Given the description of an element on the screen output the (x, y) to click on. 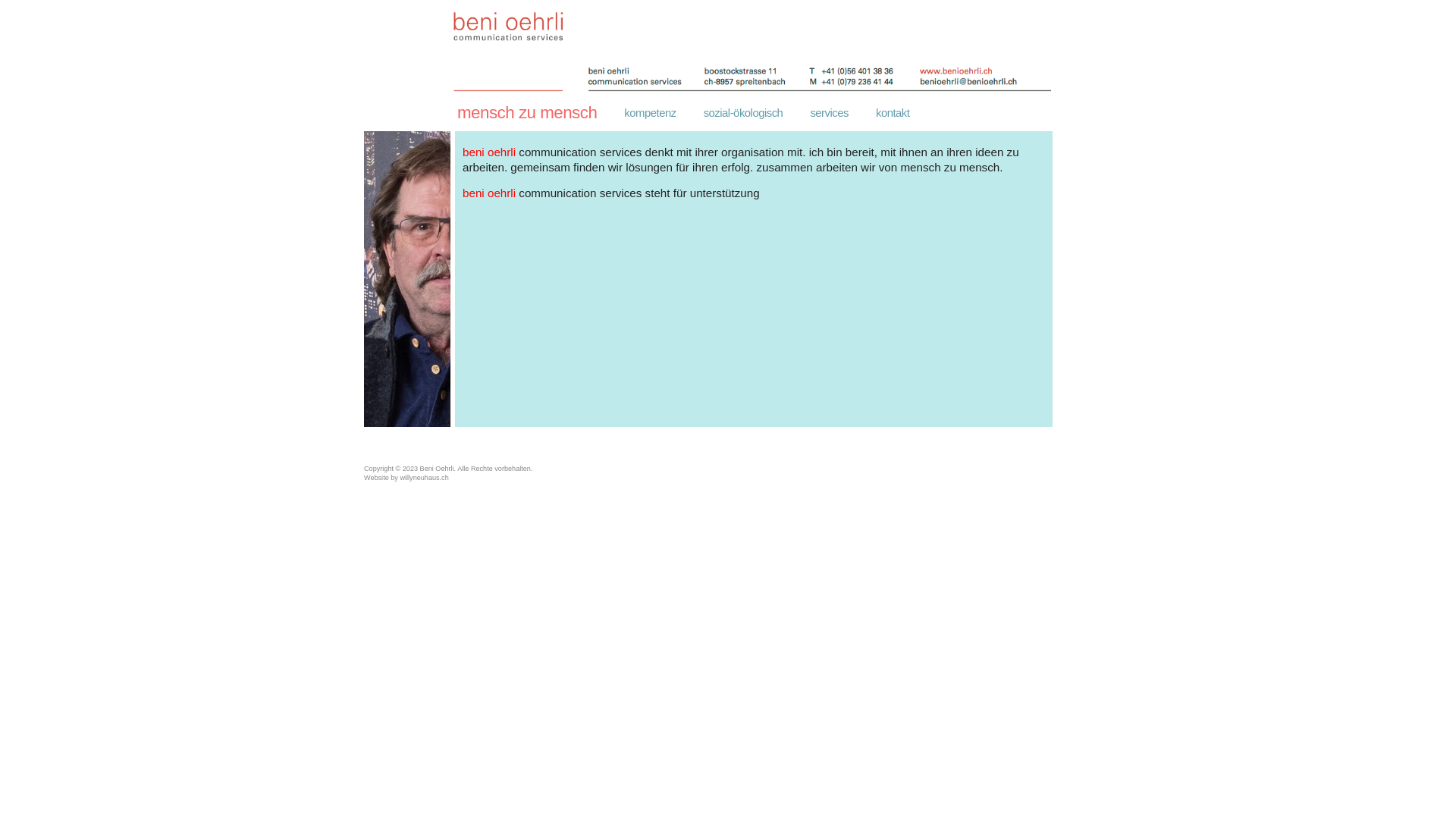
services Element type: text (829, 112)
kontakt Element type: text (892, 112)
kompetenz Element type: text (649, 112)
mensch zu mensch Element type: text (526, 112)
